Given the description of an element on the screen output the (x, y) to click on. 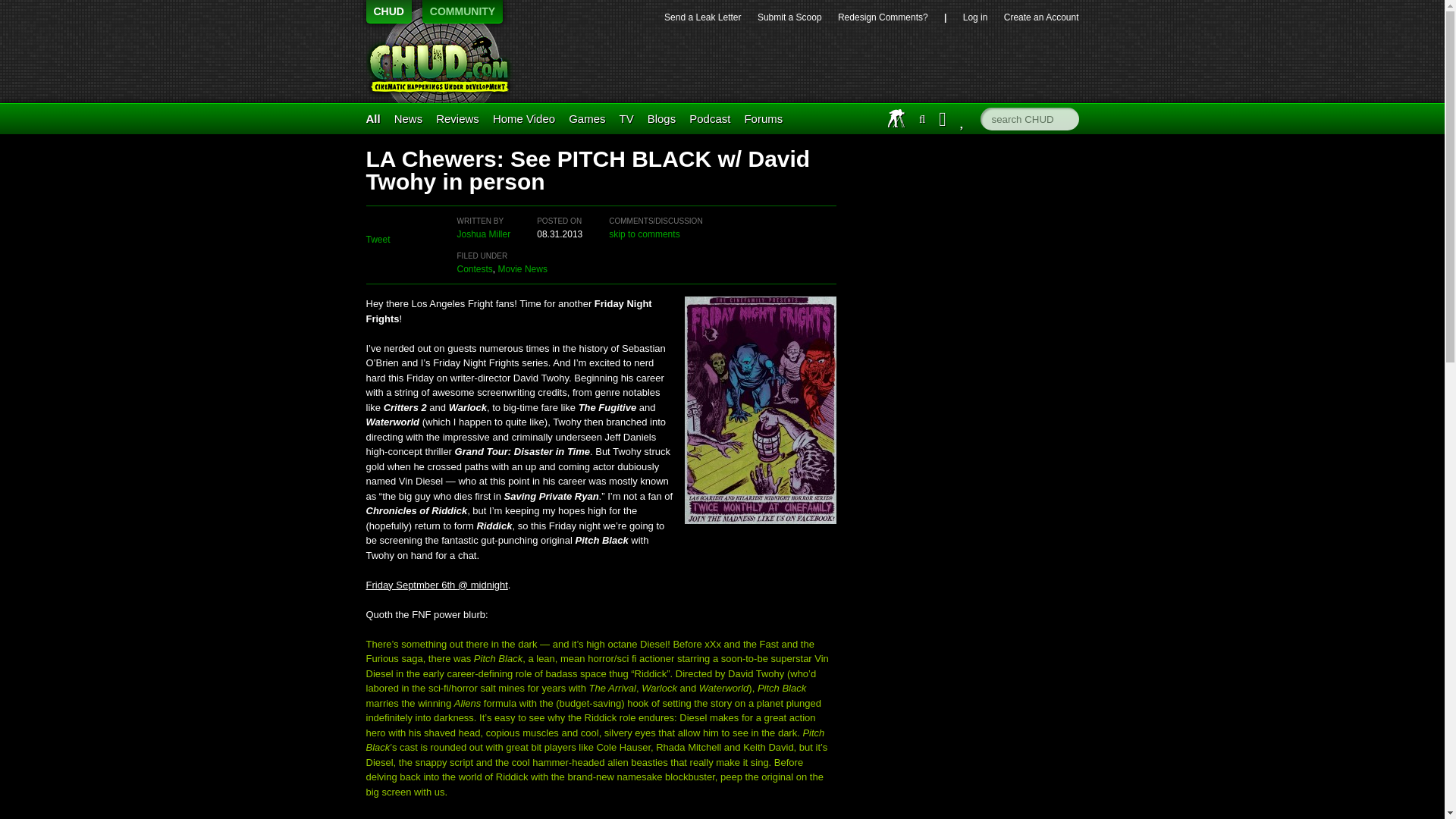
Posts by Joshua Miller (484, 234)
Submit a Scoop (789, 17)
Movie News (522, 268)
Home Video (523, 118)
Reviews (457, 118)
Joshua Miller (484, 234)
CHUD (445, 63)
THUD is where CHUD discusses television. (626, 118)
Create an Account (1041, 17)
Contests (474, 268)
